Given the description of an element on the screen output the (x, y) to click on. 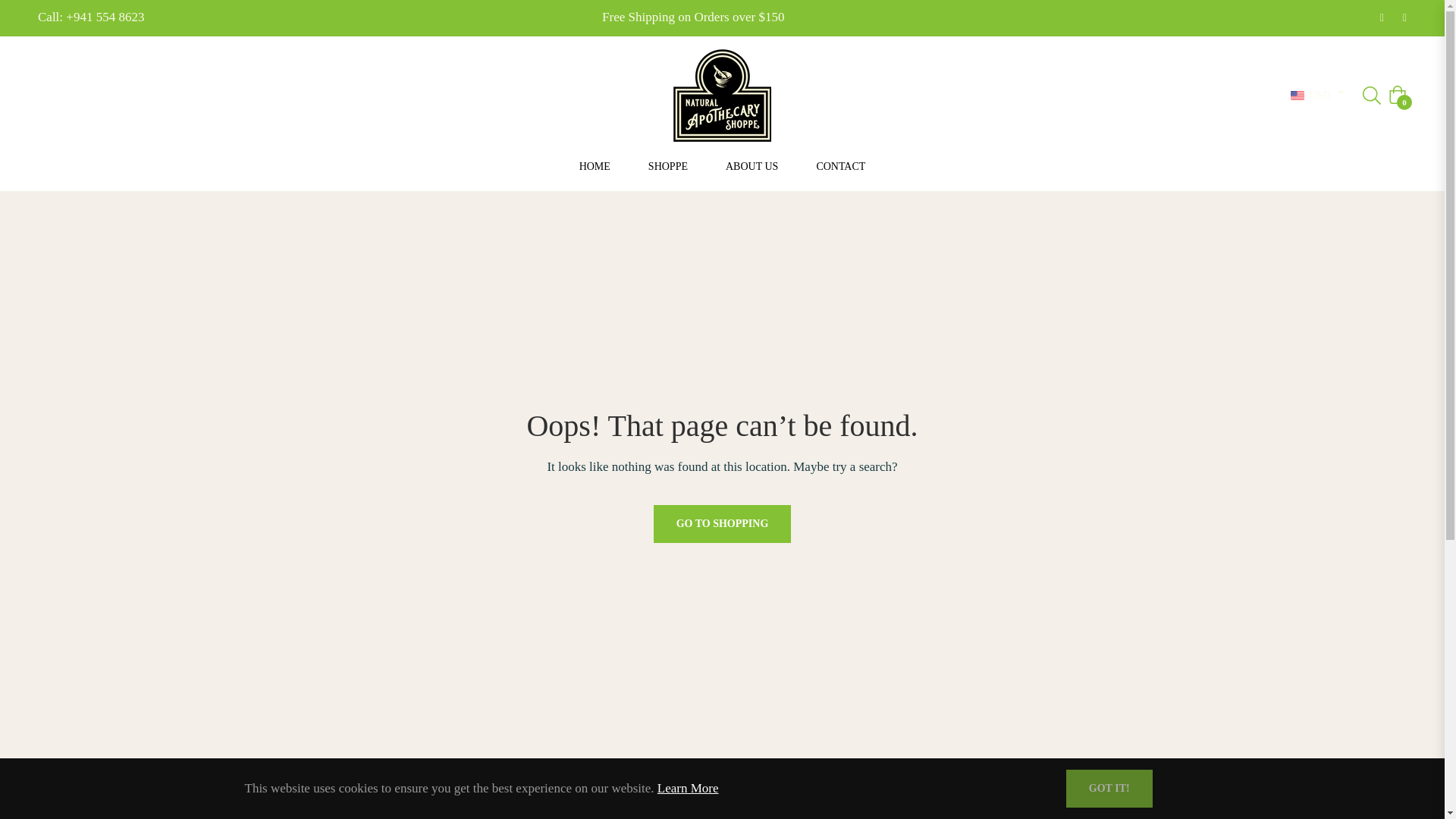
SHOPPE (667, 165)
Shop Now (815, 16)
Currencies (1316, 95)
Shopping Cart (1397, 94)
HOME (594, 165)
